Given the description of an element on the screen output the (x, y) to click on. 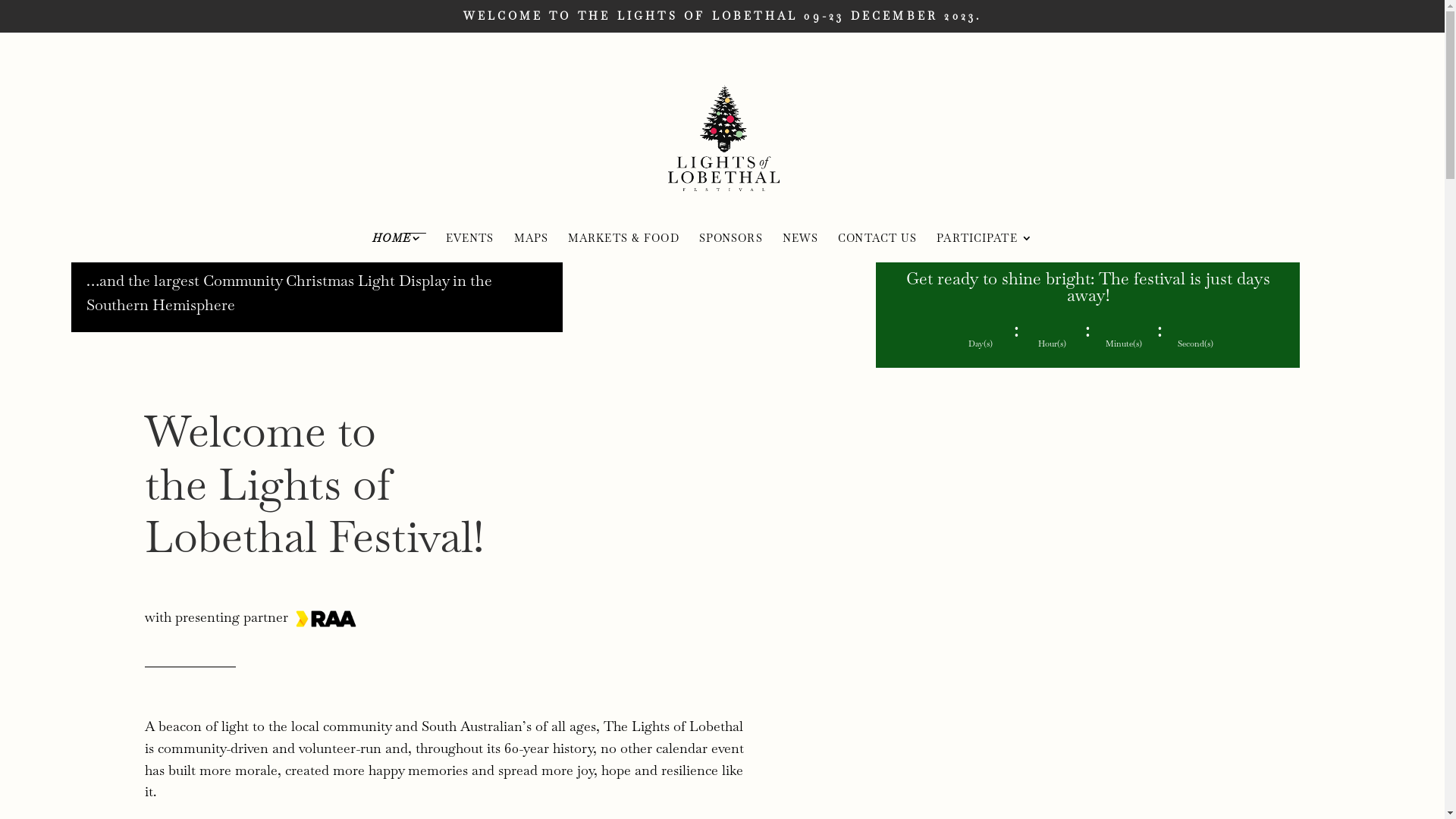
EVENTS Element type: text (469, 247)
MAPS Element type: text (531, 247)
WELCOME TO THE LIGHTS OF LOBETHAL 09-23 DECEMBER 2023. Element type: text (722, 16)
NEWS Element type: text (800, 247)
MARKETS & FOOD Element type: text (623, 247)
1 Copeland Ave credit Dylan Sanders Element type: hover (307, 275)
HOME Element type: text (398, 247)
CONTACT US Element type: text (876, 247)
PARTICIPATE Element type: text (984, 247)
history Element type: text (572, 747)
SPONSORS Element type: text (730, 247)
